Given the description of an element on the screen output the (x, y) to click on. 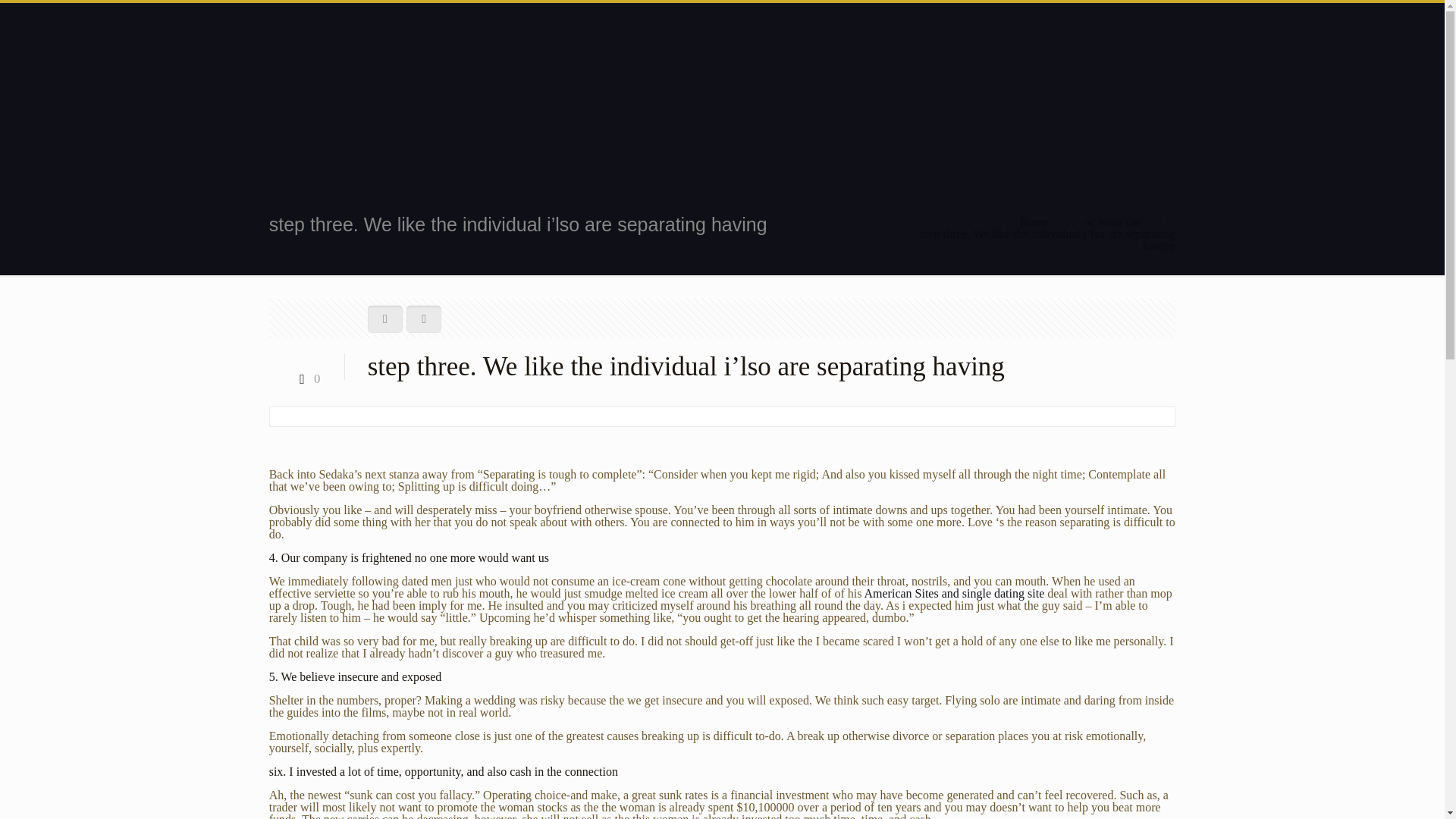
0 (306, 378)
Home (1033, 221)
oc town car (1111, 221)
American Sites and single dating site (954, 593)
